Given the description of an element on the screen output the (x, y) to click on. 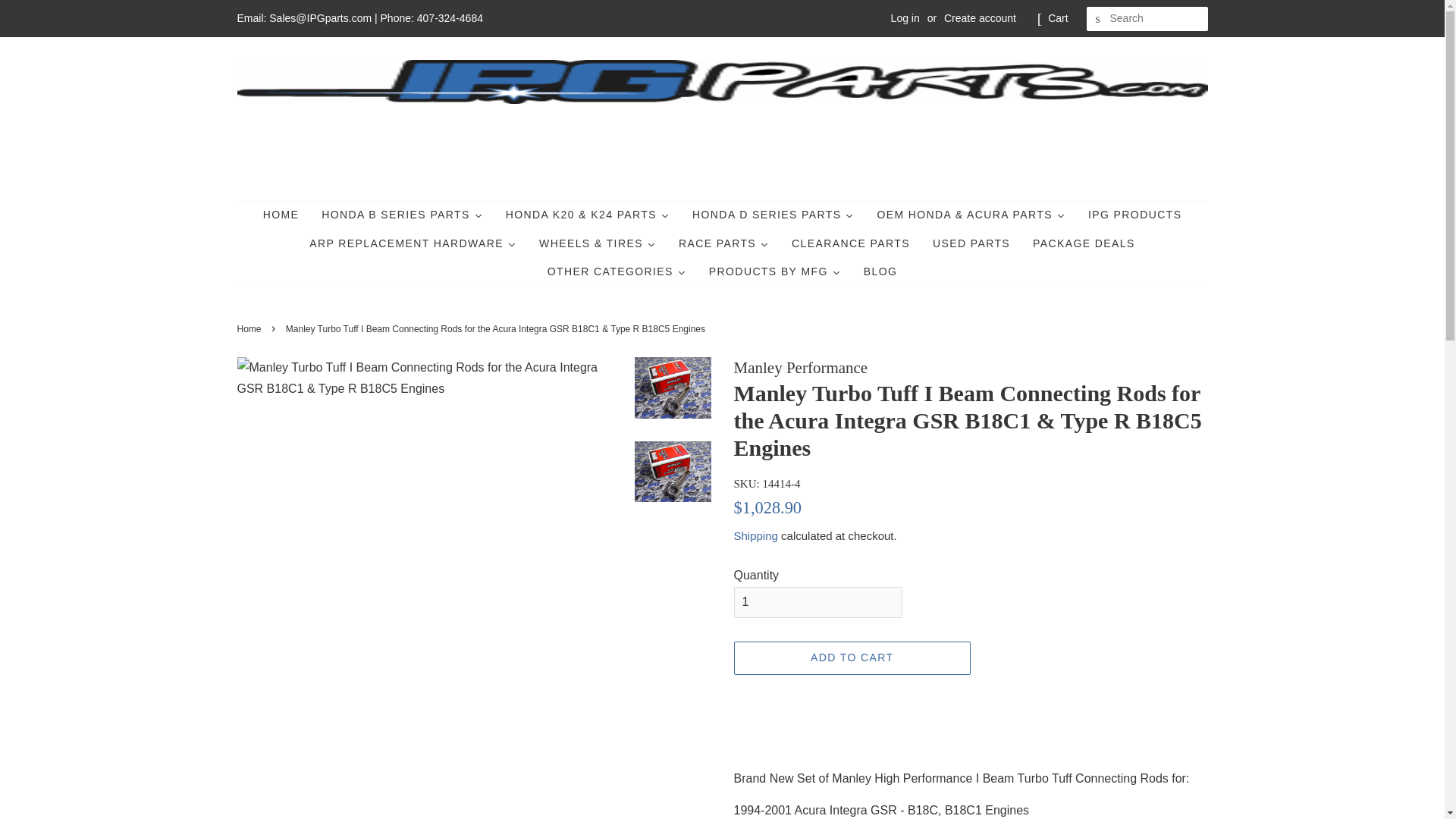
Log in (905, 18)
Honda D Series Parts (772, 215)
1 (817, 602)
Home (281, 215)
Create account (979, 18)
Honda B Series Parts (402, 215)
SEARCH (1097, 18)
Cart (1057, 18)
